Given the description of an element on the screen output the (x, y) to click on. 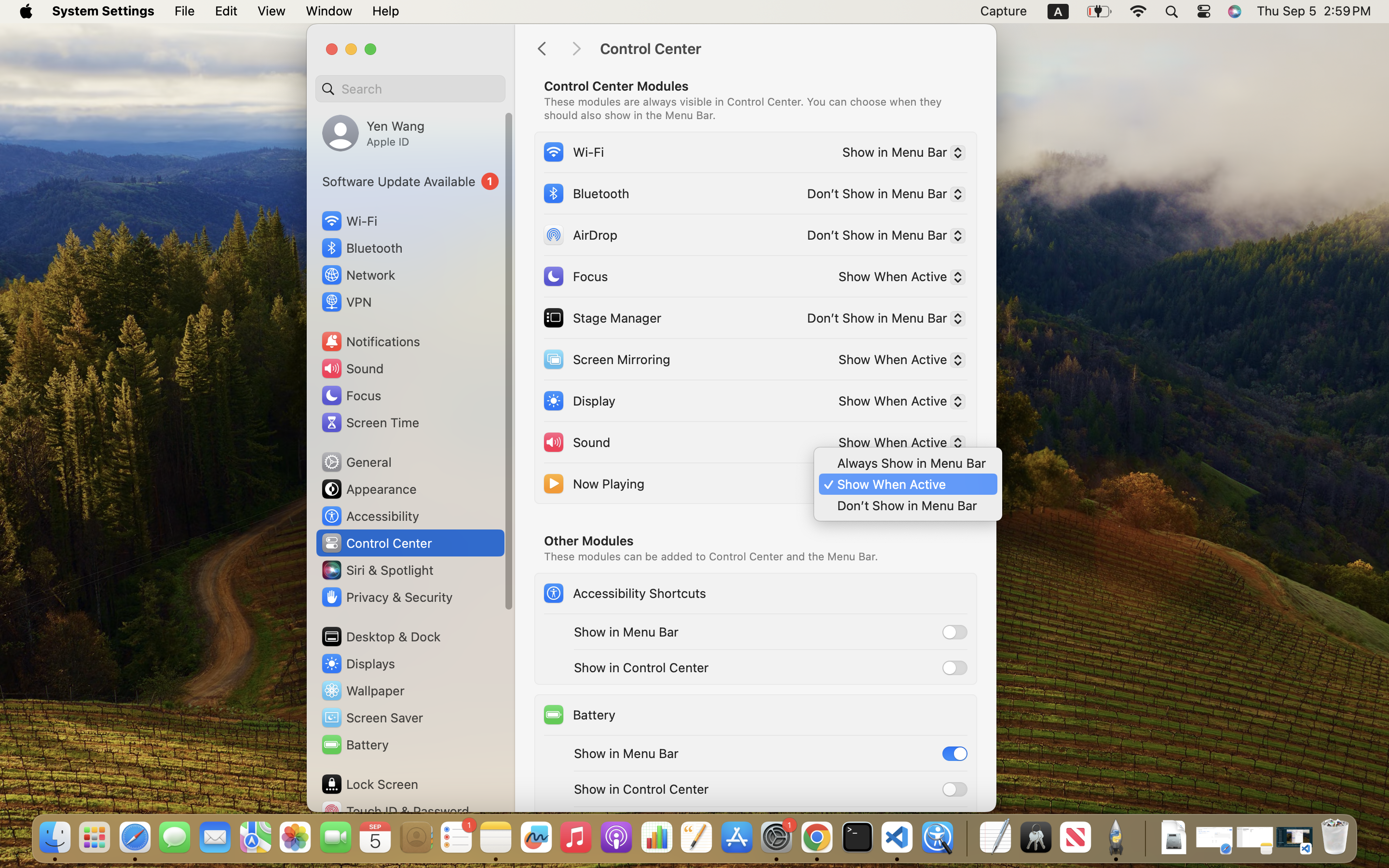
AirDrop Element type: AXStaticText (579, 233)
Accessibility Element type: AXStaticText (369, 515)
Siri & Spotlight Element type: AXStaticText (376, 569)
Screen Saver Element type: AXStaticText (371, 717)
Appearance Element type: AXStaticText (368, 488)
